Given the description of an element on the screen output the (x, y) to click on. 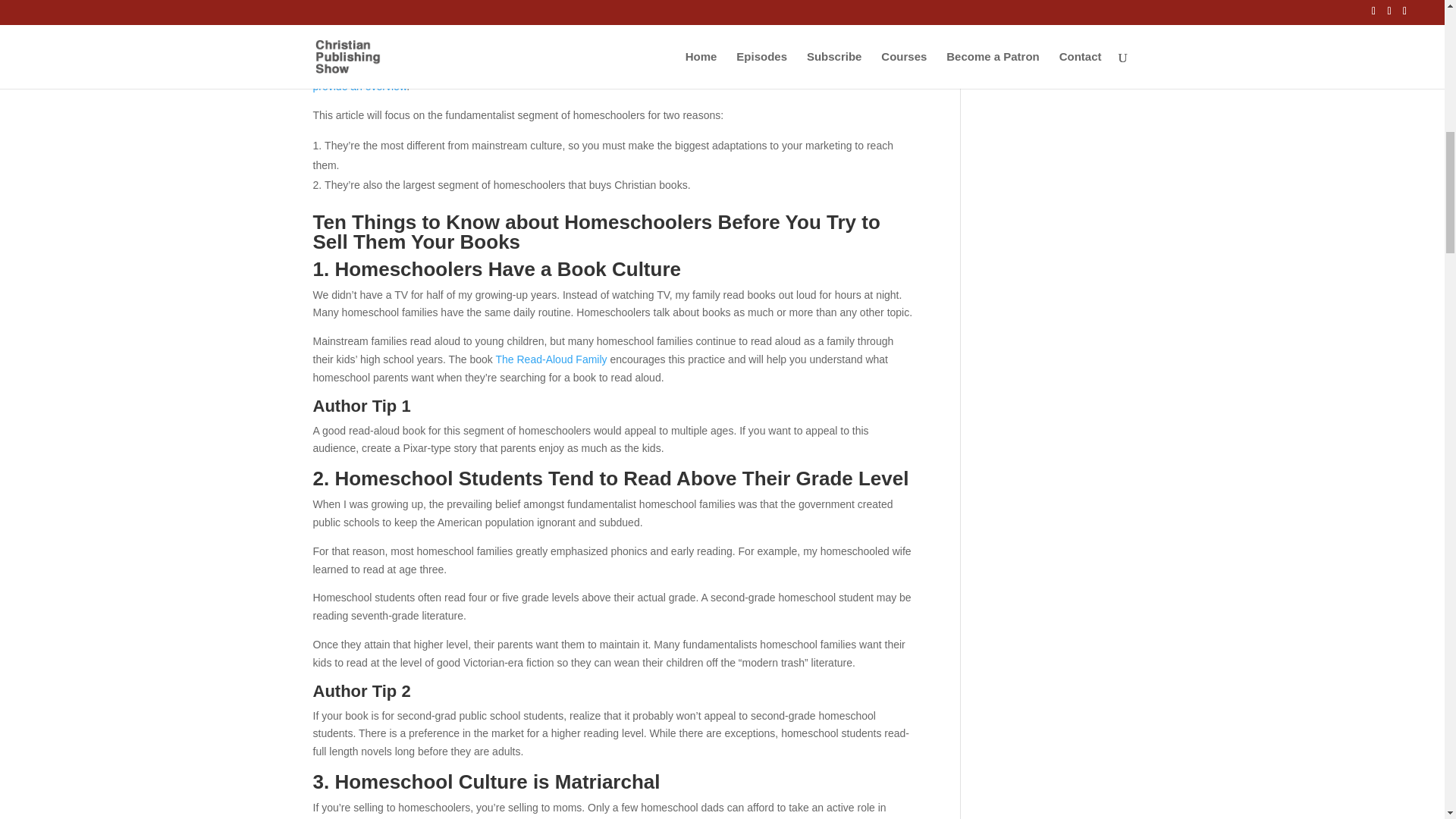
The Read-Aloud Family (551, 358)
Episode 51, where I provide an overview (602, 77)
